Given the description of an element on the screen output the (x, y) to click on. 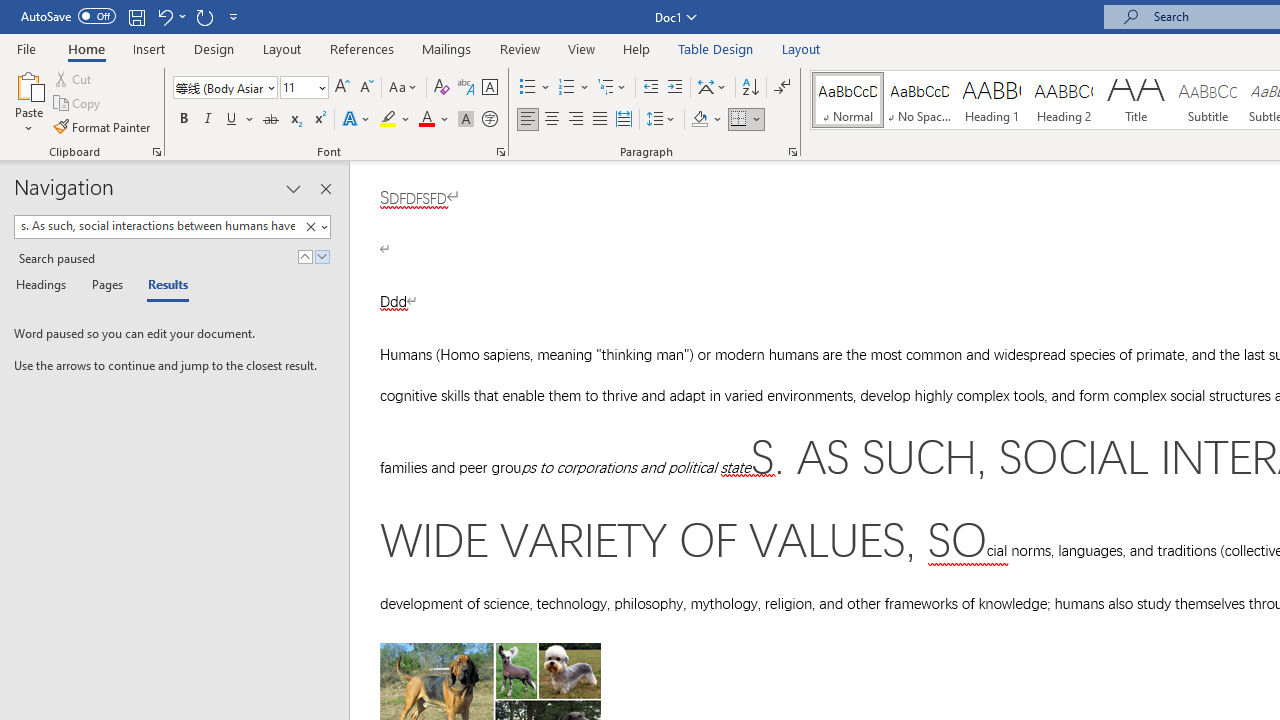
Clear (310, 227)
Font Color RGB(255, 0, 0) (426, 119)
Previous Result (304, 256)
